Given the description of an element on the screen output the (x, y) to click on. 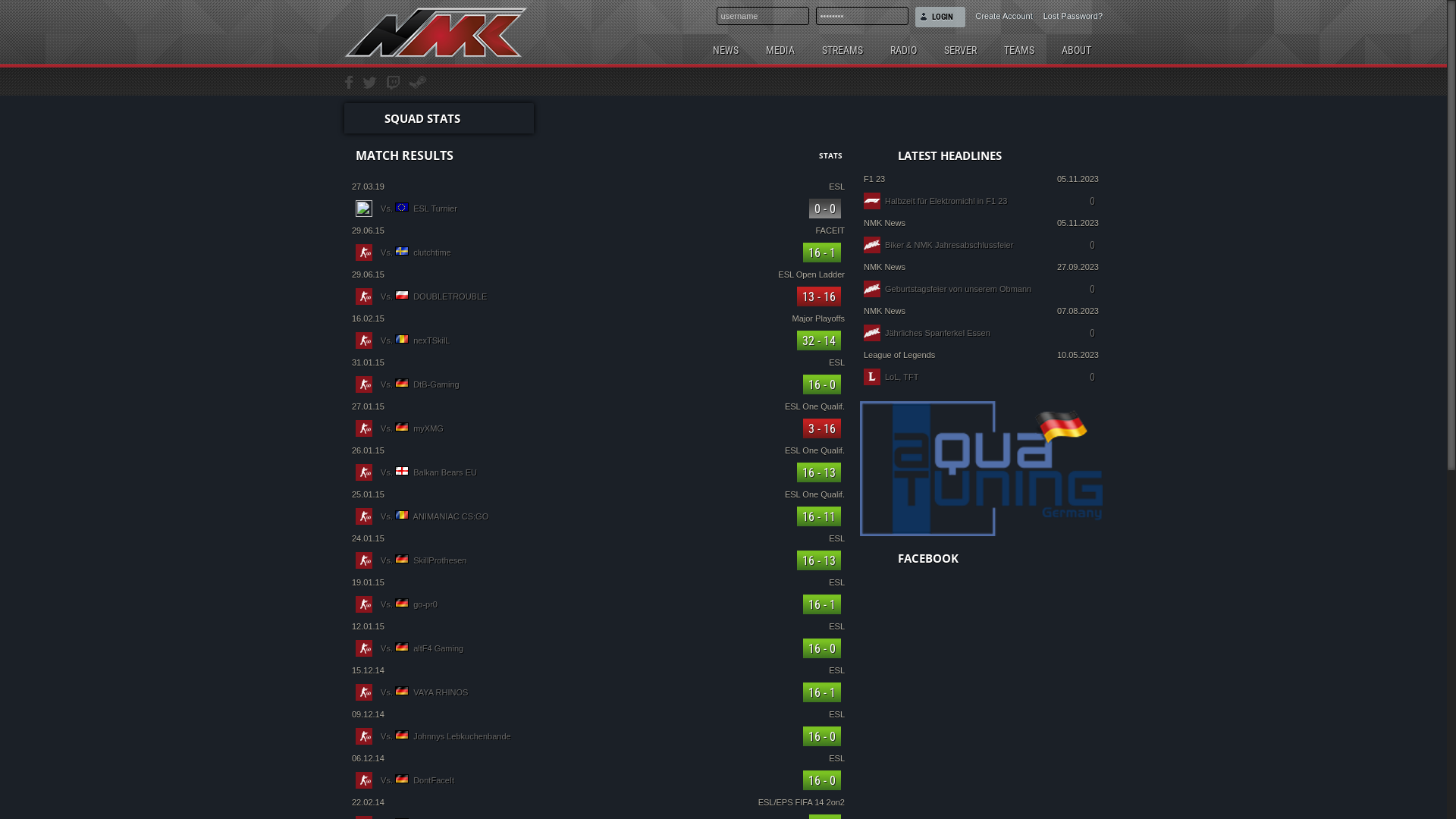
Create Account Element type: text (998, 13)
Biker & NMK Jahresabschlussfeier Element type: text (948, 244)
LoL, TFT Element type: text (901, 376)
  Vs.   ANIMANIAC CS:GO
16 - 11 Element type: text (597, 516)
  Vs.   DtB-Gaming
16 - 0 Element type: text (597, 384)
SERVER Element type: text (960, 49)
Lost Password? Element type: text (1067, 13)
  Vs.   VAYA RHINOS
16 - 1 Element type: text (597, 692)
  Vs.   Johnnys Lebkuchenbande
16 - 0 Element type: text (597, 736)
MEDIA Element type: text (780, 49)
  Vs.   DontFaceIt
16 - 0 Element type: text (597, 780)
  Vs.   clutchtime
16 - 1 Element type: text (597, 252)
  Vs.   Balkan Bears EU
16 - 13 Element type: text (597, 472)
  Vs.   myXMG
3 - 16 Element type: text (597, 428)
Geburtstagsfeier von unserem Obmann Element type: text (957, 288)
  Vs.   DOUBLETROUBLE
13 - 16 Element type: text (597, 296)
  Vs.   nexTSkilL
32 - 14 Element type: text (597, 340)
ABOUT Element type: text (1076, 49)
  Vs.   altF4 Gaming
16 - 0 Element type: text (597, 648)
  Vs.   go-pr0
16 - 1 Element type: text (597, 604)
RADIO Element type: text (903, 49)
  Vs.   ESL Turnier
0 - 0 Element type: text (597, 208)
STREAMS Element type: text (842, 49)
NEWS Element type: text (725, 49)
TEAMS Element type: text (1018, 49)
  Vs.   SkillProthesen
16 - 13 Element type: text (597, 560)
STATS Element type: text (830, 155)
